Given the description of an element on the screen output the (x, y) to click on. 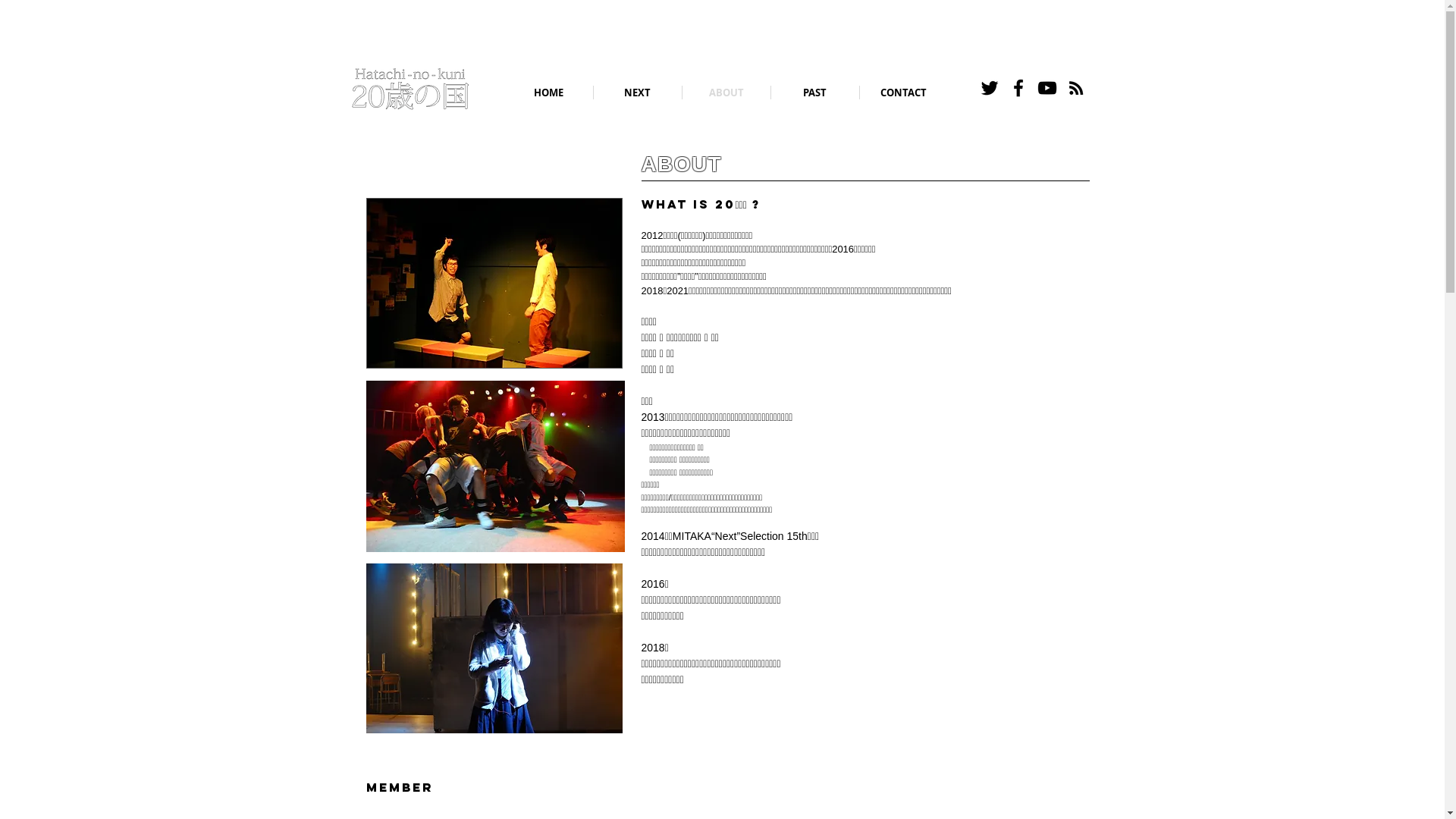
CONTACT Element type: text (903, 92)
HOME Element type: text (547, 92)
PAST Element type: text (814, 92)
_3006698.jpg Element type: hover (493, 282)
HOME Element type: hover (408, 90)
NEXT Element type: text (636, 92)
ABOUT Element type: text (726, 92)
